Given the description of an element on the screen output the (x, y) to click on. 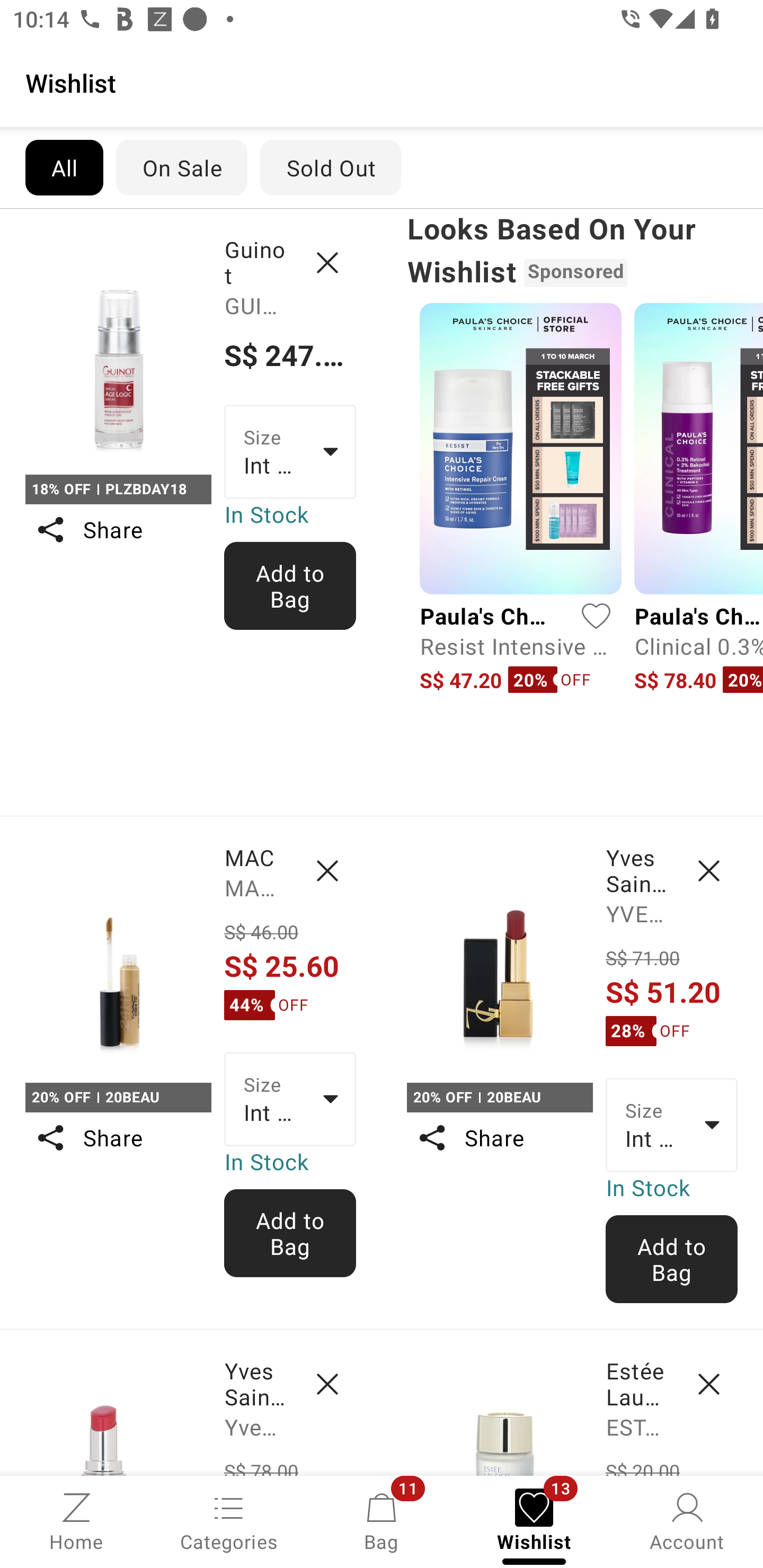
Wishlist (381, 82)
All (64, 167)
On Sale (181, 167)
Sold Out (330, 167)
Size Int One Size (290, 451)
Share (118, 529)
Add to Bag (290, 586)
Size Int One Size (290, 1099)
Size Int One Size (671, 1125)
Share (118, 1137)
Share (499, 1137)
Add to Bag (290, 1232)
Add to Bag (671, 1259)
Home (76, 1519)
Categories (228, 1519)
Bag, 11 new notifications Bag (381, 1519)
Account (686, 1519)
